Given the description of an element on the screen output the (x, y) to click on. 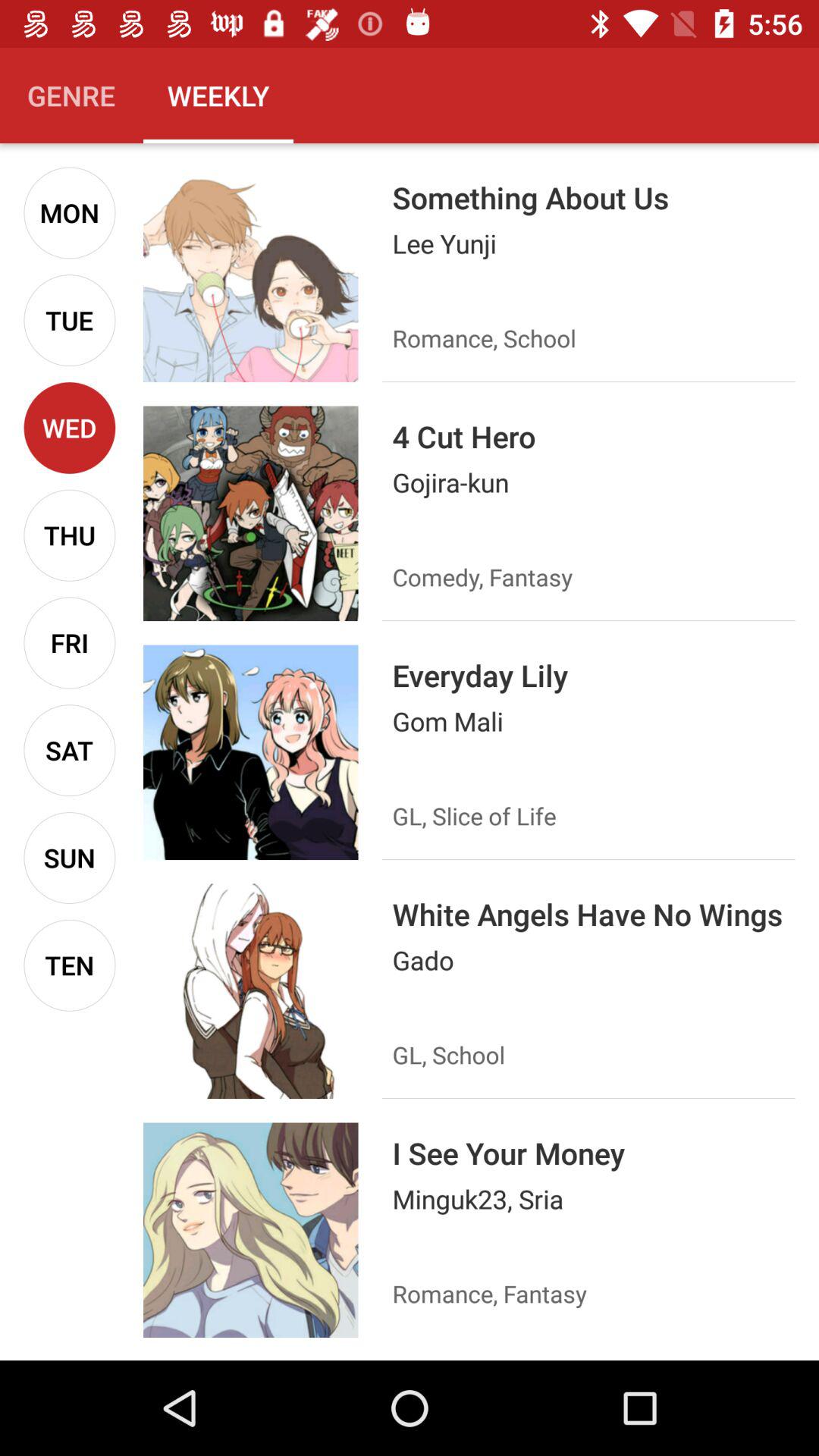
tap the icon below fri (69, 750)
